Given the description of an element on the screen output the (x, y) to click on. 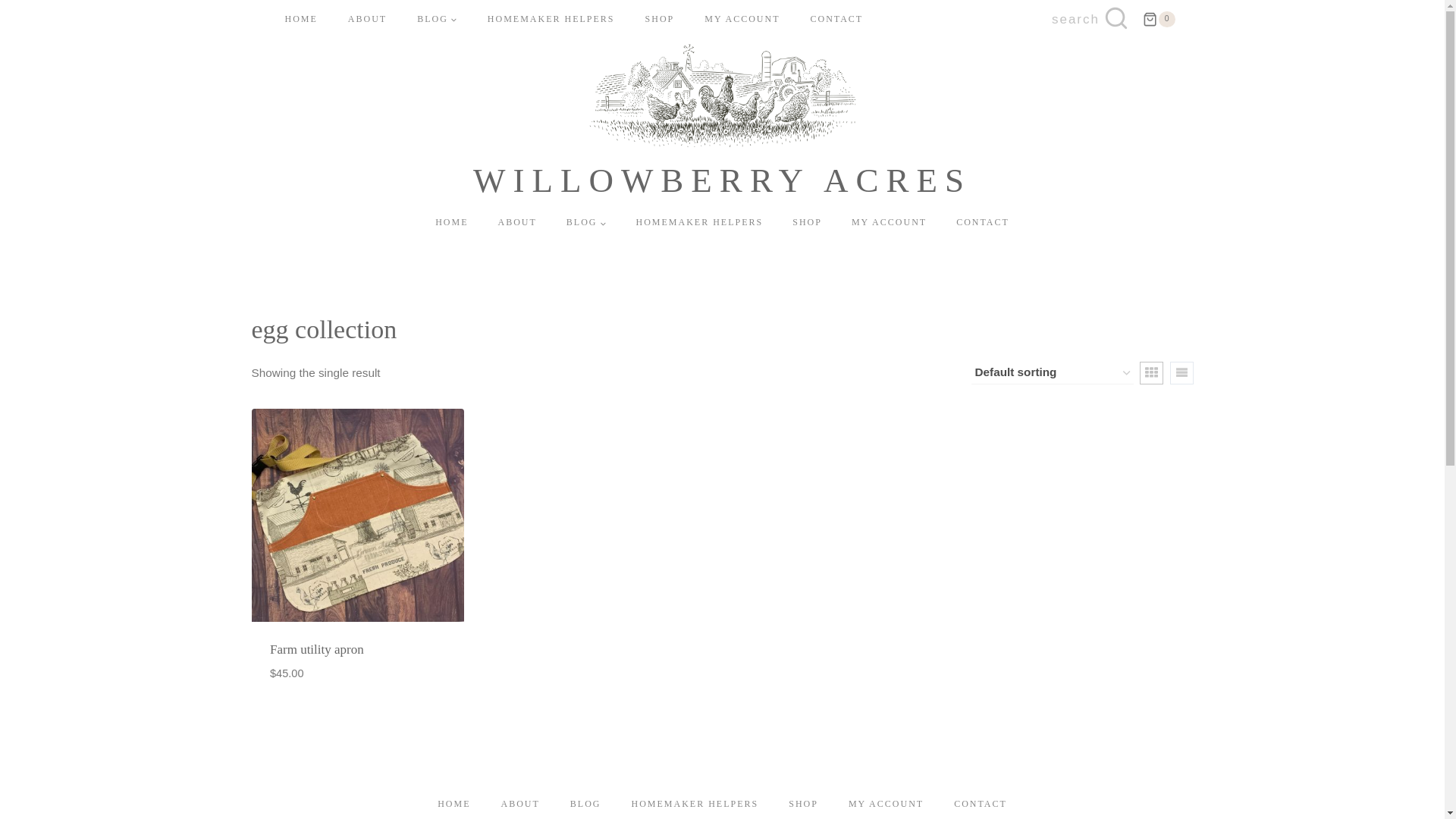
List View (1180, 372)
Grid View (1151, 372)
ABOUT (367, 19)
HOME (301, 19)
HOME (451, 222)
HOMEMAKER HELPERS (550, 19)
0 (1158, 19)
WILLOWBERRY ACRES (722, 120)
BLOG (584, 804)
BLOG (586, 222)
